Given the description of an element on the screen output the (x, y) to click on. 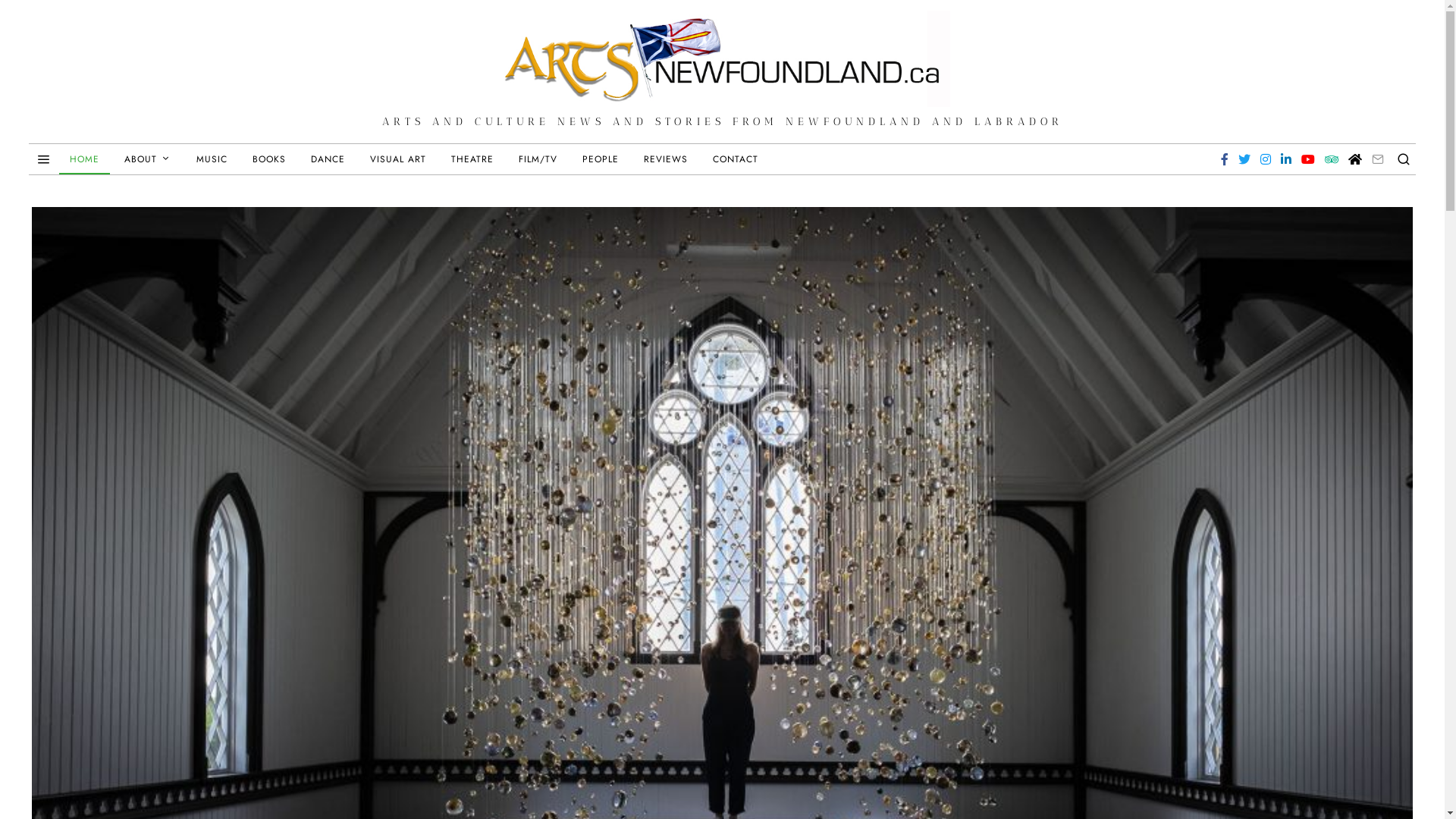
FILM/TV Element type: text (537, 159)
Facebook Element type: hover (1224, 159)
Instagram Element type: hover (1265, 159)
VISUAL ART Element type: text (397, 159)
BOOKS Element type: text (268, 159)
MUSIC Element type: text (211, 159)
TripAdvisor Element type: hover (1331, 159)
YouTube Element type: hover (1307, 159)
PEOPLE Element type: text (600, 159)
DANCE Element type: text (327, 159)
LinkedIn Element type: hover (1286, 159)
HOME Element type: text (84, 159)
ABOUT Element type: text (147, 159)
Twitter Element type: hover (1244, 159)
THEATRE Element type: text (472, 159)
Home Element type: hover (1354, 159)
REVIEWS Element type: text (665, 159)
CONTACT Element type: text (735, 159)
Email Element type: hover (1377, 159)
